Given the description of an element on the screen output the (x, y) to click on. 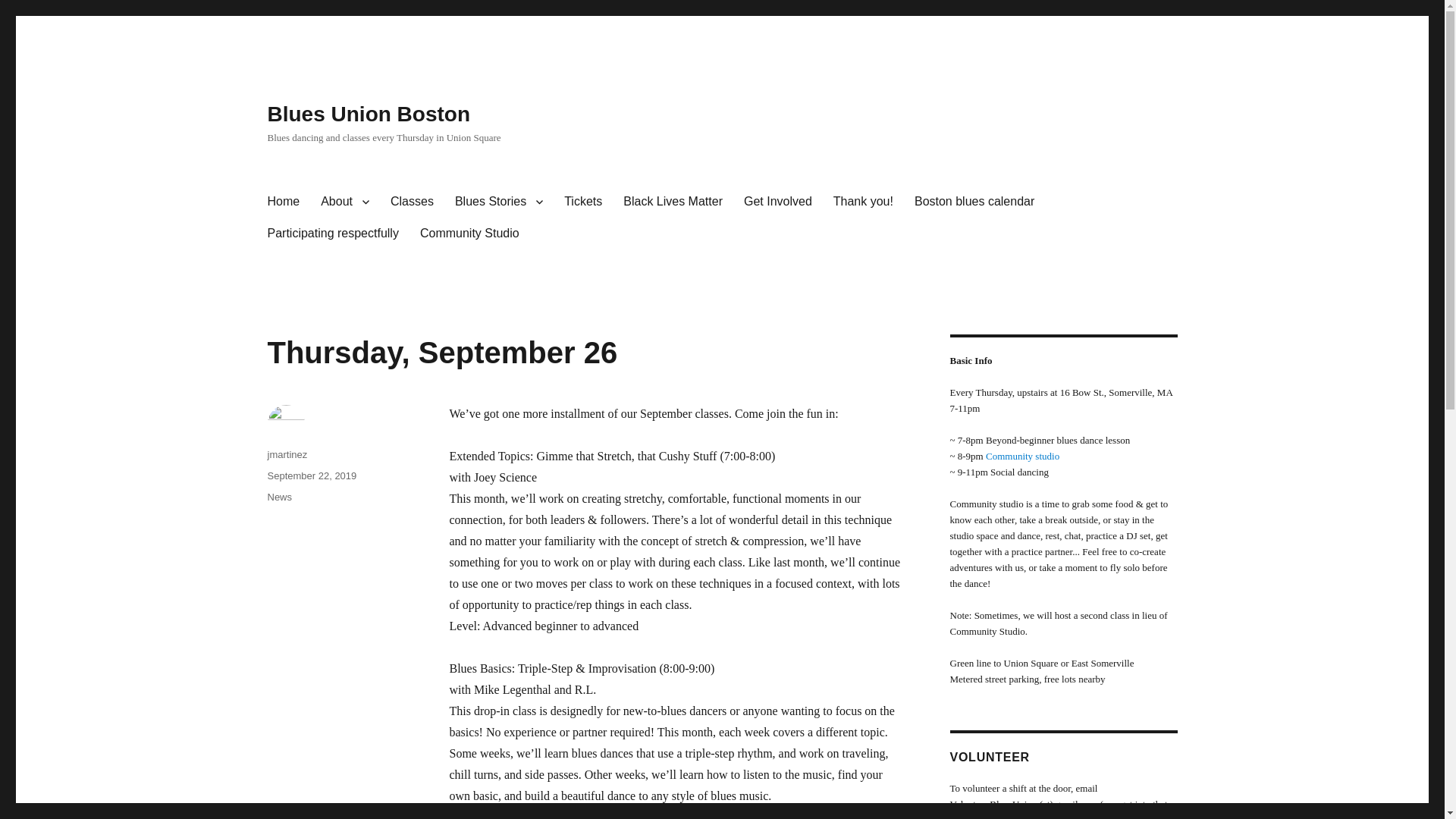
Home (283, 201)
News (279, 496)
Classes (412, 201)
Community studio (1022, 455)
Blues Union Boston (368, 114)
Blues Stories (498, 201)
September 22, 2019 (311, 475)
Participating respectfully (332, 233)
Tickets (582, 201)
jmartinez (286, 454)
